Given the description of an element on the screen output the (x, y) to click on. 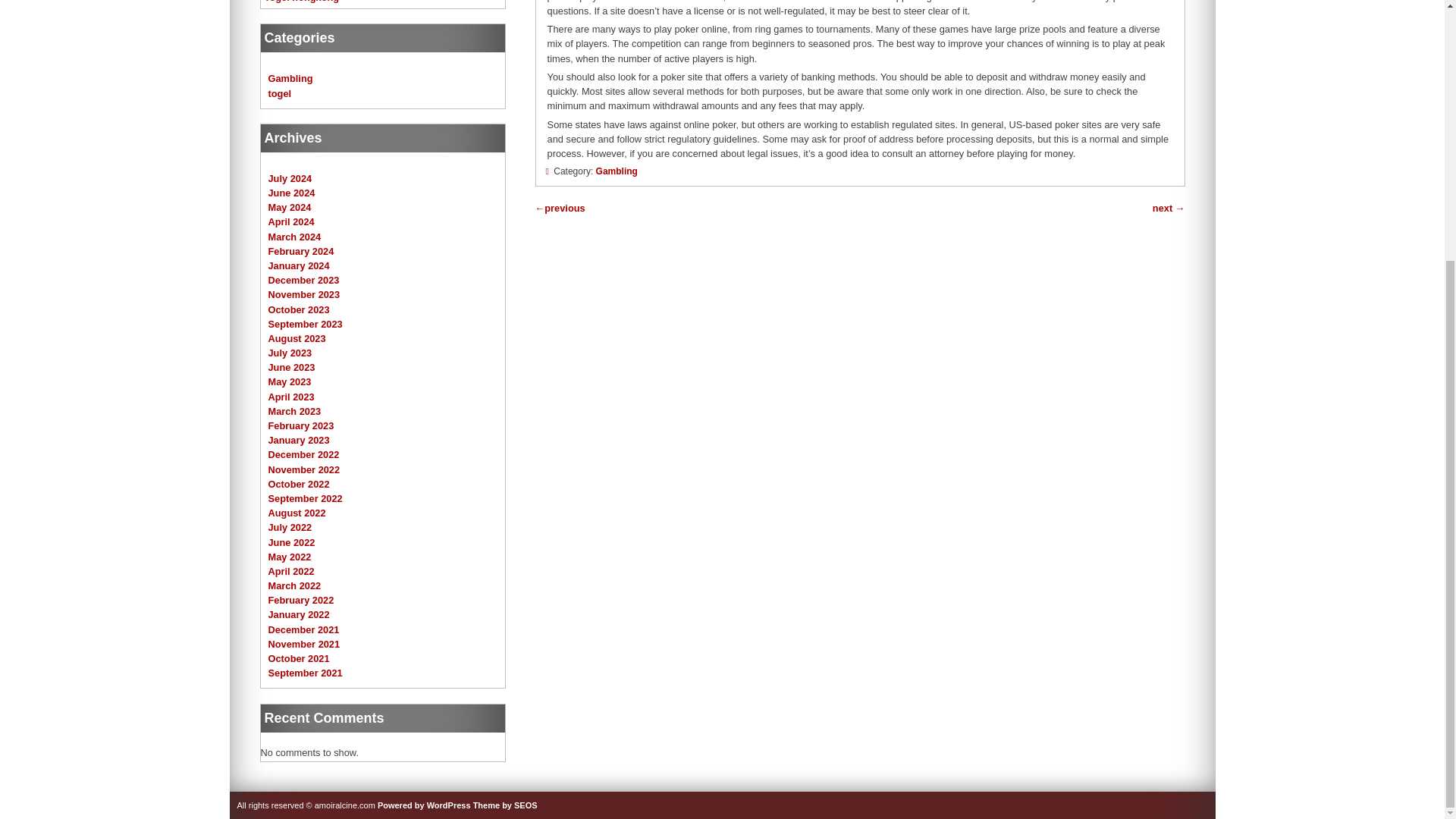
May 2024 (289, 206)
March 2023 (294, 410)
January 2023 (298, 439)
July 2024 (290, 178)
Togel hongkong (301, 1)
togel (279, 93)
May 2023 (289, 381)
February 2024 (300, 251)
December 2022 (303, 454)
June 2024 (291, 193)
January 2024 (298, 265)
Gambling (616, 171)
April 2023 (290, 396)
October 2023 (298, 309)
March 2024 (294, 236)
